Given the description of an element on the screen output the (x, y) to click on. 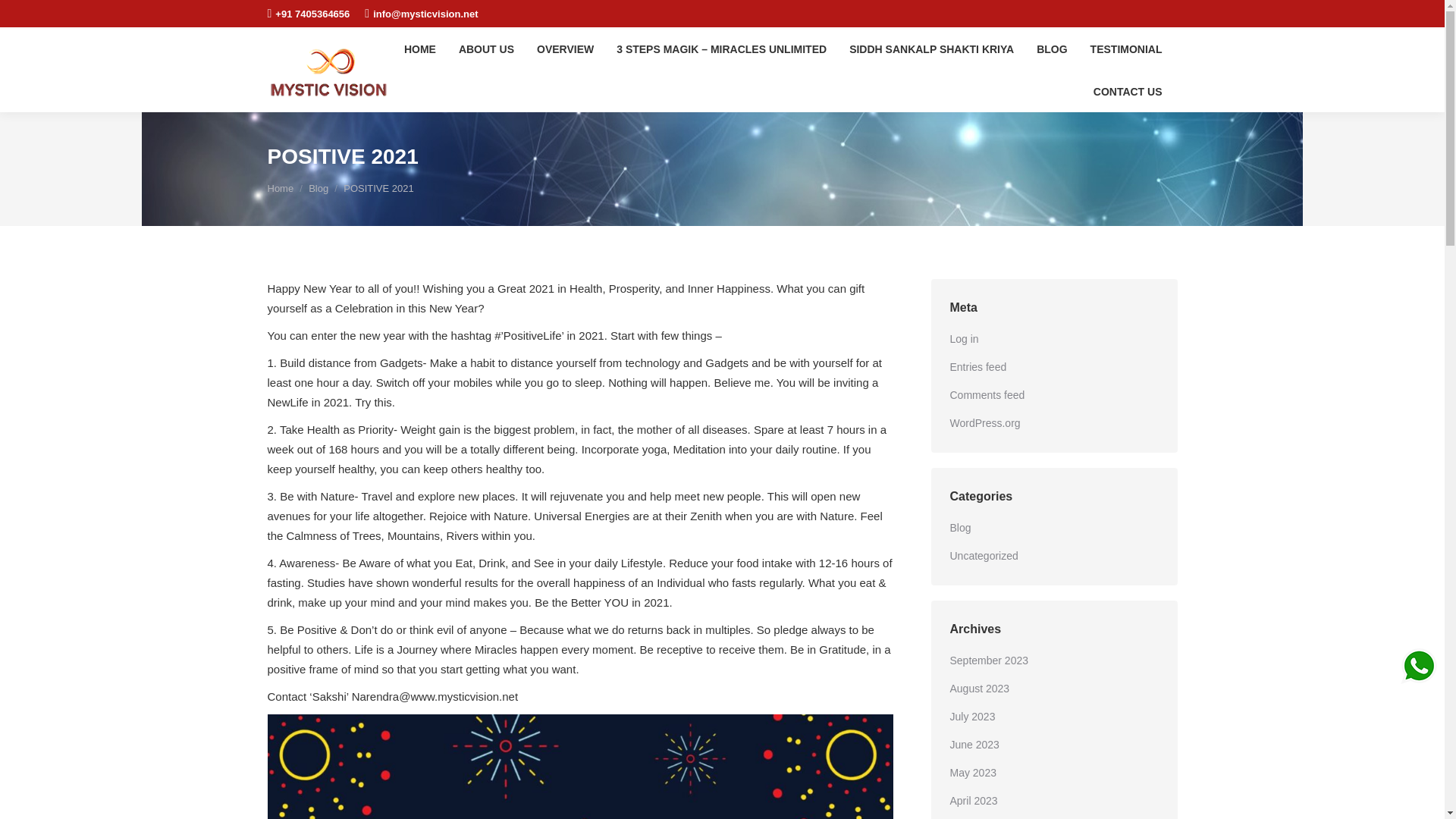
CONTACT US (1128, 90)
BLOG (1051, 48)
OVERVIEW (565, 48)
TESTIMONIAL (1126, 48)
SIDDH SANKALP SHAKTI KRIYA (931, 48)
ABOUT US (486, 48)
HOME (420, 48)
